Given the description of an element on the screen output the (x, y) to click on. 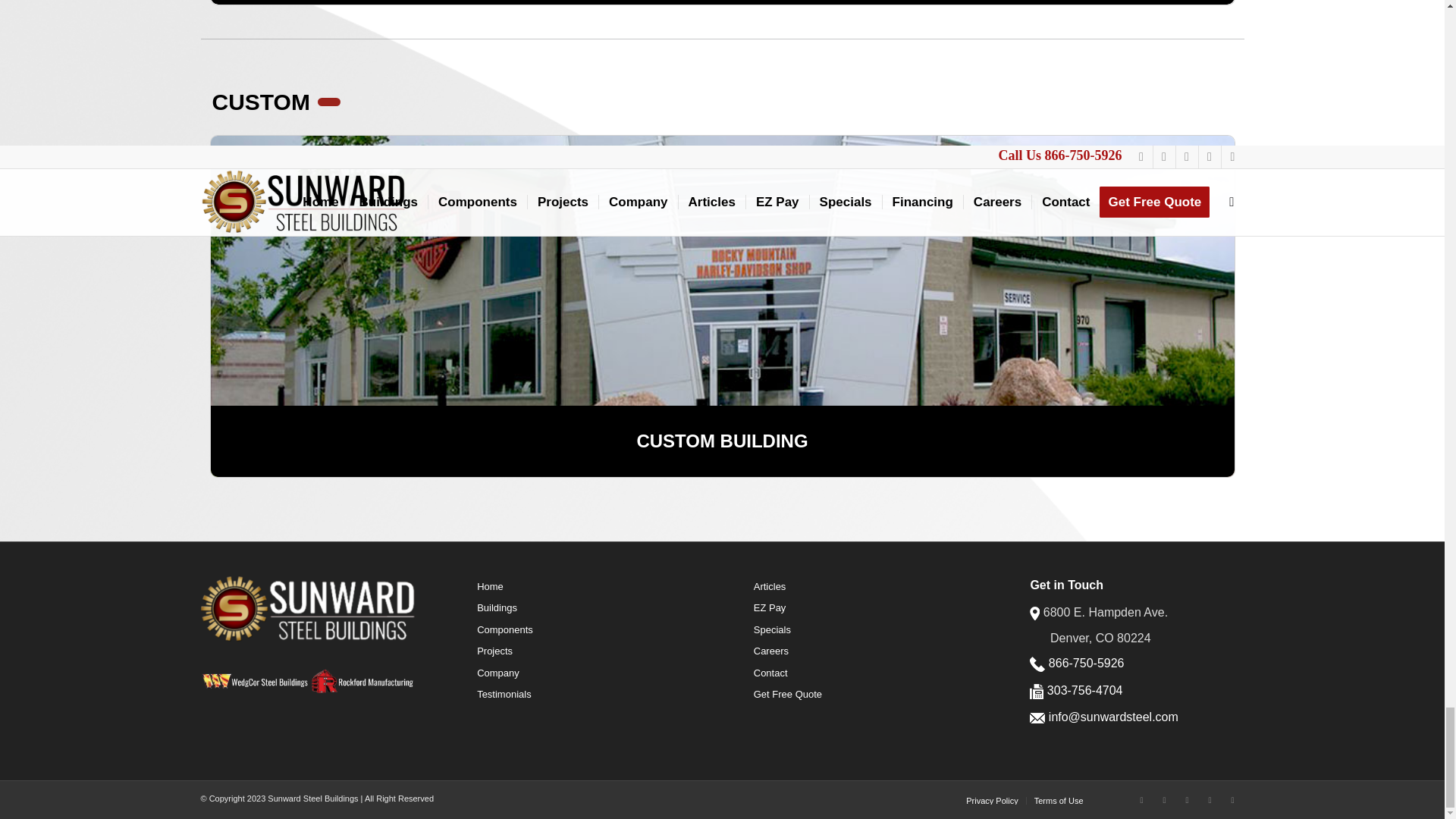
Instagram (1163, 799)
Twitter (1232, 799)
LinkedIn (1186, 799)
Facebook (1141, 799)
Youtube (1209, 799)
